Given the description of an element on the screen output the (x, y) to click on. 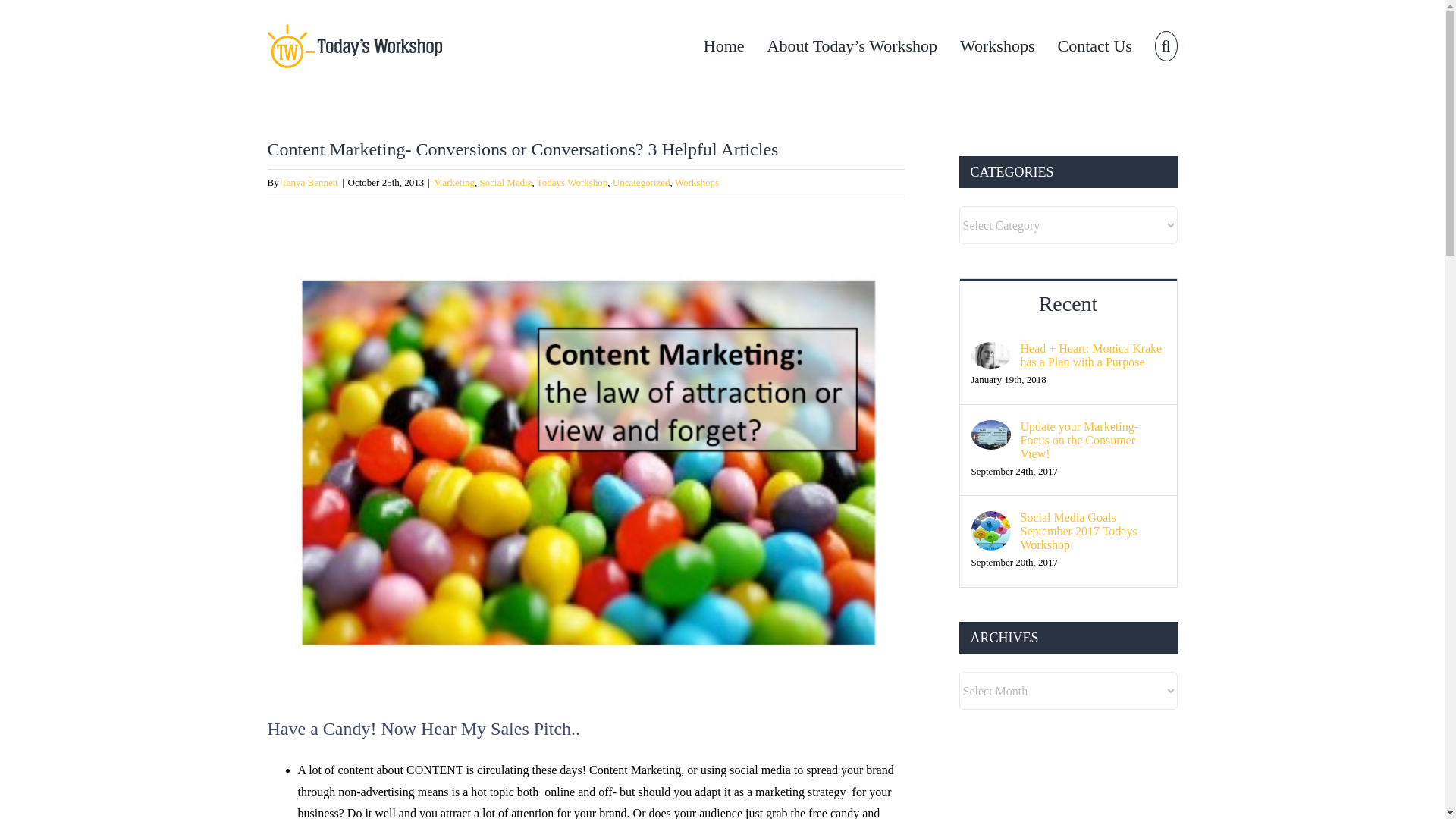
Social Media (506, 182)
Workshops (697, 182)
Todays Workshop (572, 182)
Posts by Tanya Bennett (309, 182)
Tanya Bennett (309, 182)
Uncategorized (640, 182)
Marketing (453, 182)
